Given the description of an element on the screen output the (x, y) to click on. 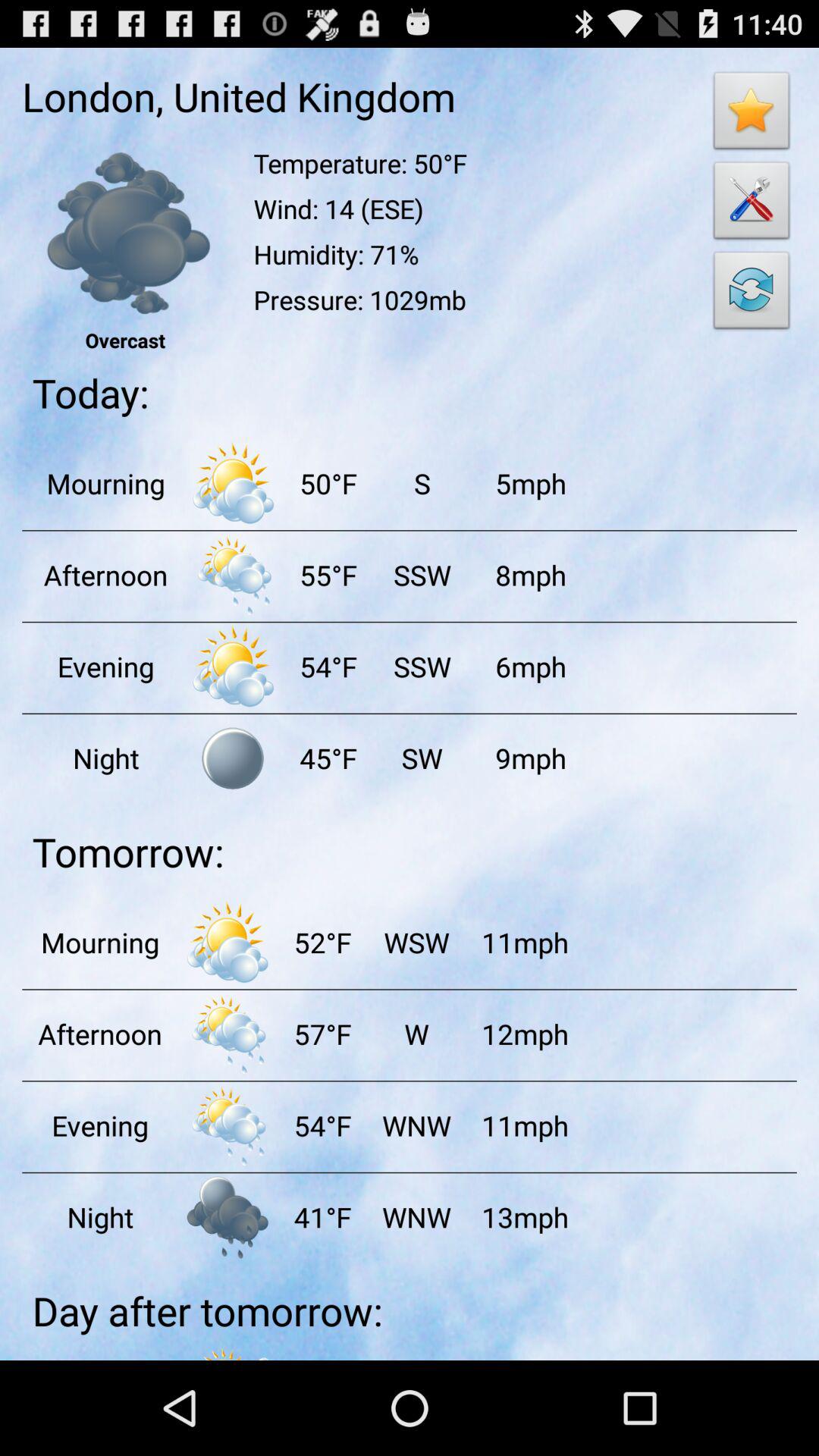
select item to the right of the wind: 14 (ese) app (751, 294)
